Given the description of an element on the screen output the (x, y) to click on. 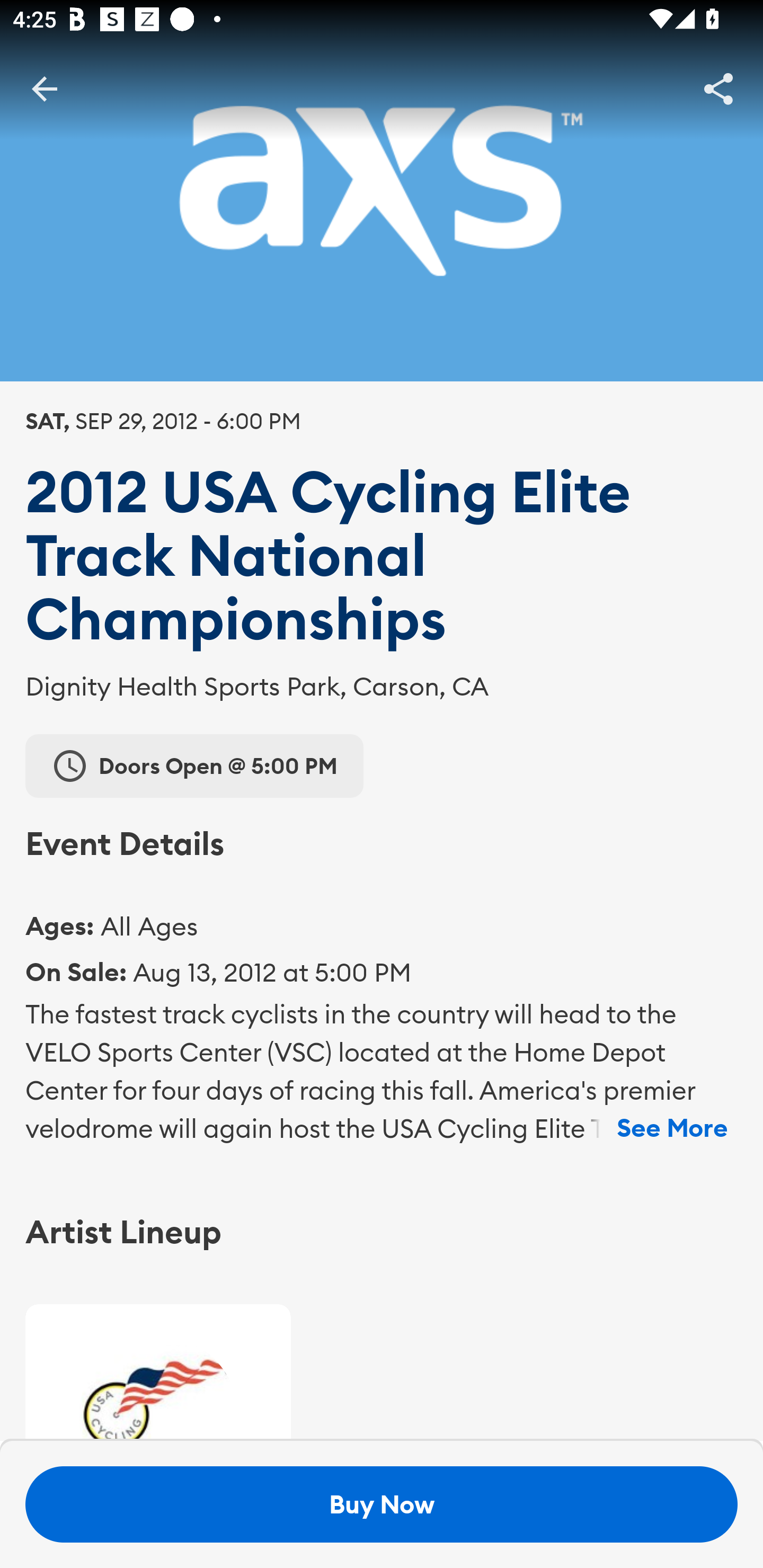
BackButton (44, 88)
Share (718, 88)
See More (671, 1127)
Buy Now (381, 1504)
